Given the description of an element on the screen output the (x, y) to click on. 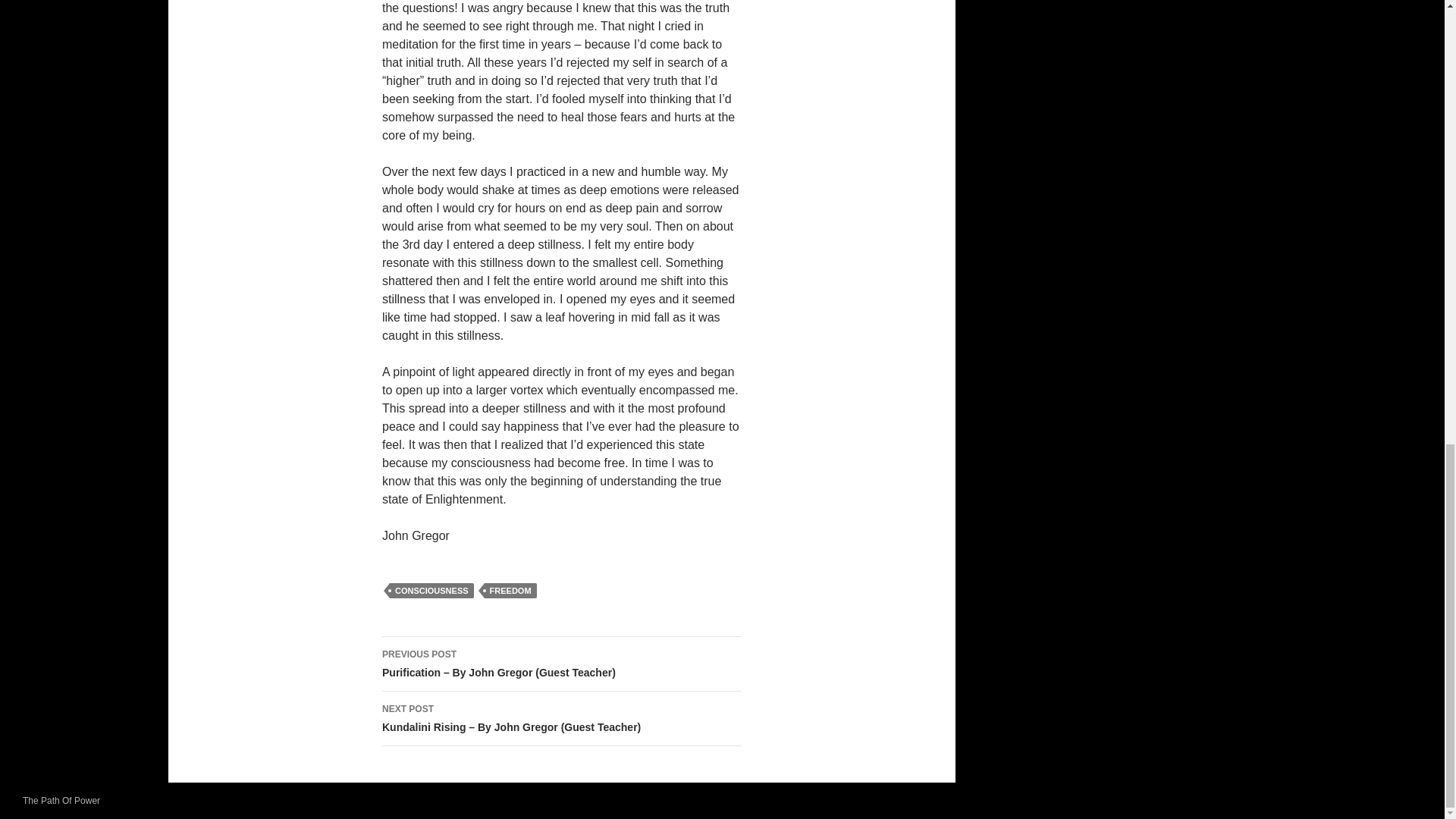
The Path Of Power (61, 800)
FREEDOM (510, 590)
CONSCIOUSNESS (432, 590)
